Given the description of an element on the screen output the (x, y) to click on. 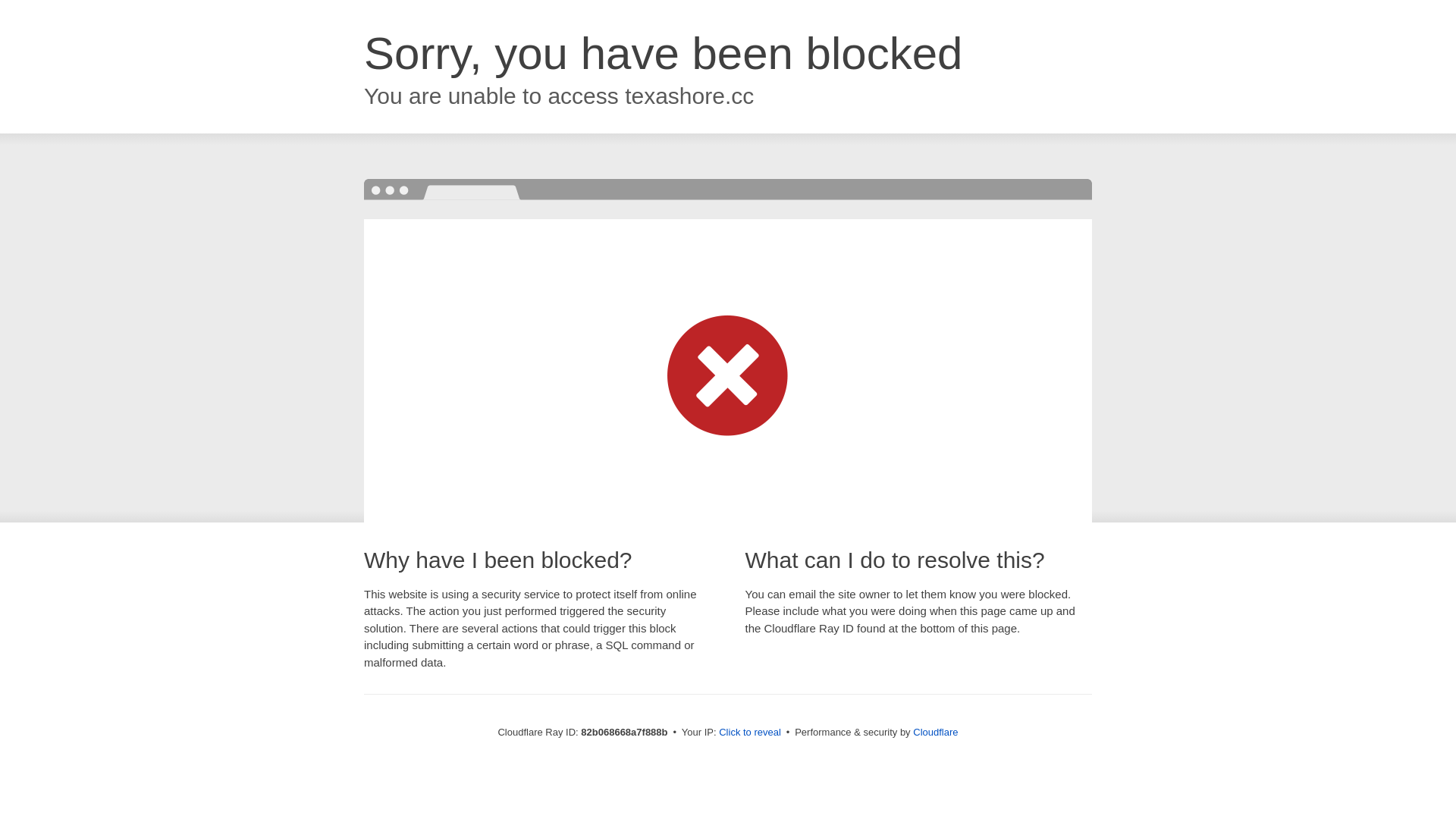
Cloudflare Element type: text (935, 731)
Click to reveal Element type: text (749, 732)
